Given the description of an element on the screen output the (x, y) to click on. 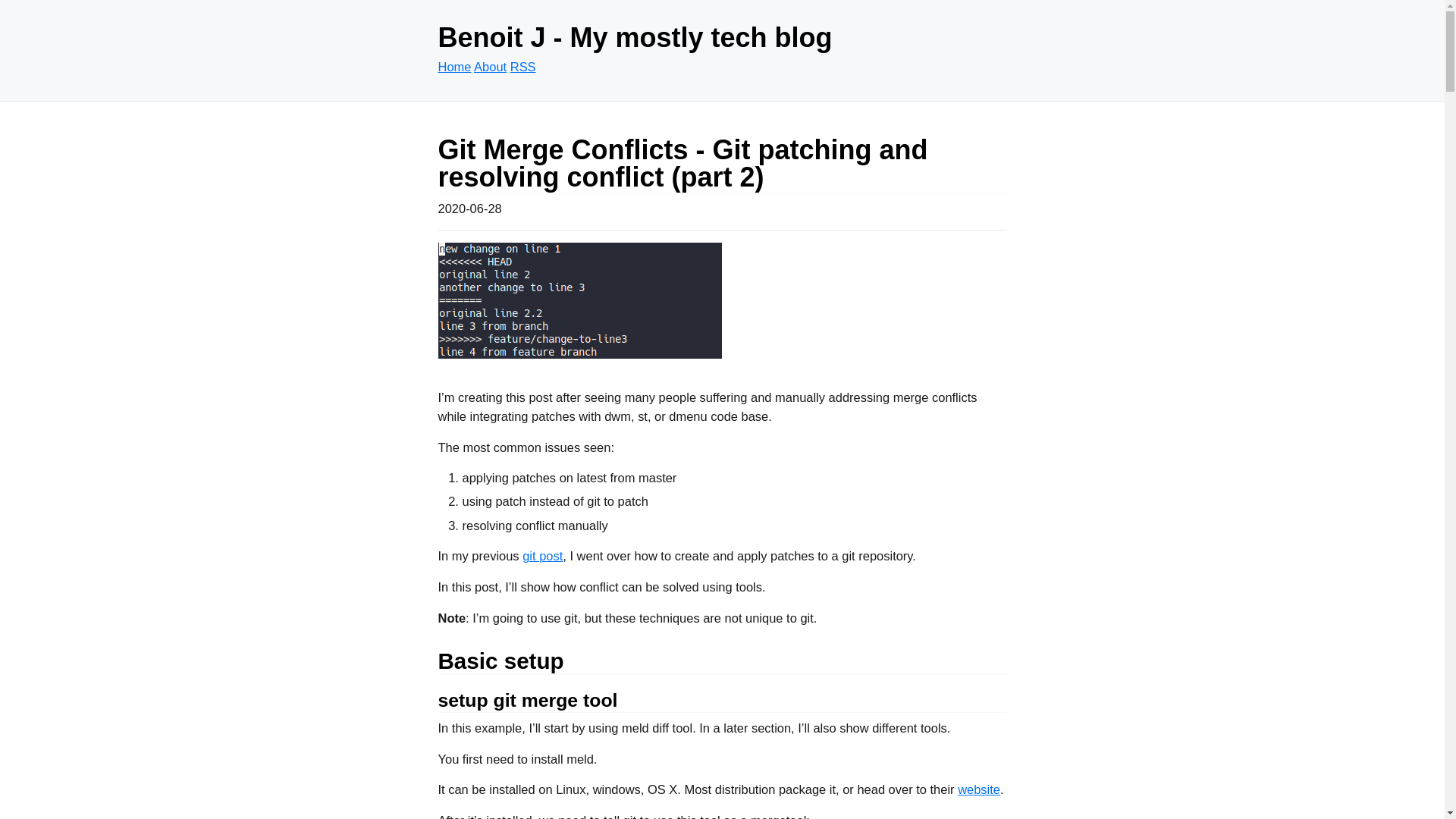
website Element type: text (978, 789)
About Element type: text (489, 66)
RSS Element type: text (523, 66)
git post Element type: text (542, 555)
Home Element type: text (454, 66)
